Given the description of an element on the screen output the (x, y) to click on. 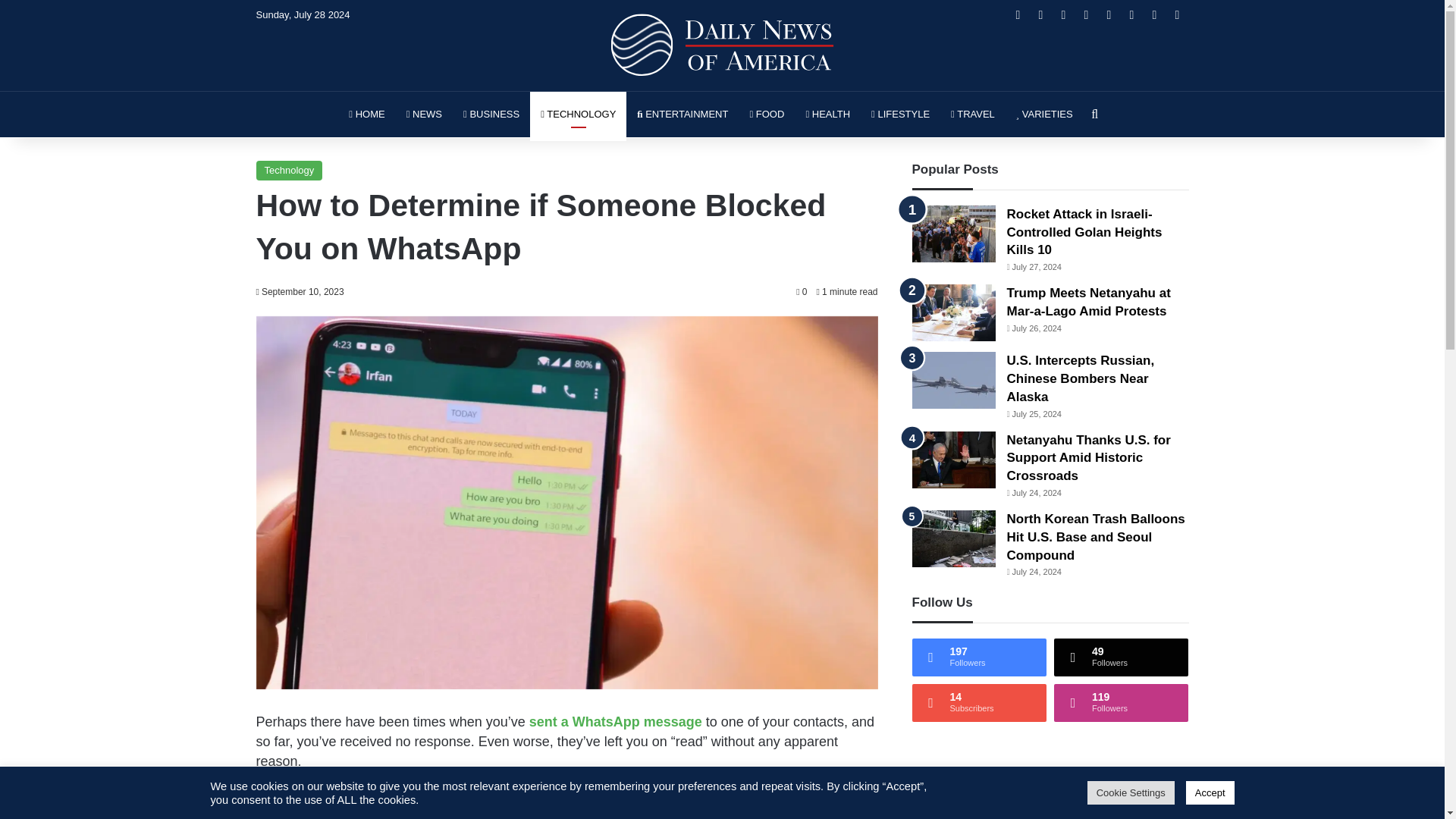
ENTERTAINMENT (682, 114)
NEWS (424, 114)
FOOD (766, 114)
TRAVEL (973, 114)
HOME (365, 114)
VARIETIES (1044, 114)
TECHNOLOGY (577, 114)
Technology (289, 170)
BUSINESS (490, 114)
LIFESTYLE (900, 114)
Daily News of America (722, 45)
HEALTH (827, 114)
sent a WhatsApp message (615, 721)
